Given the description of an element on the screen output the (x, y) to click on. 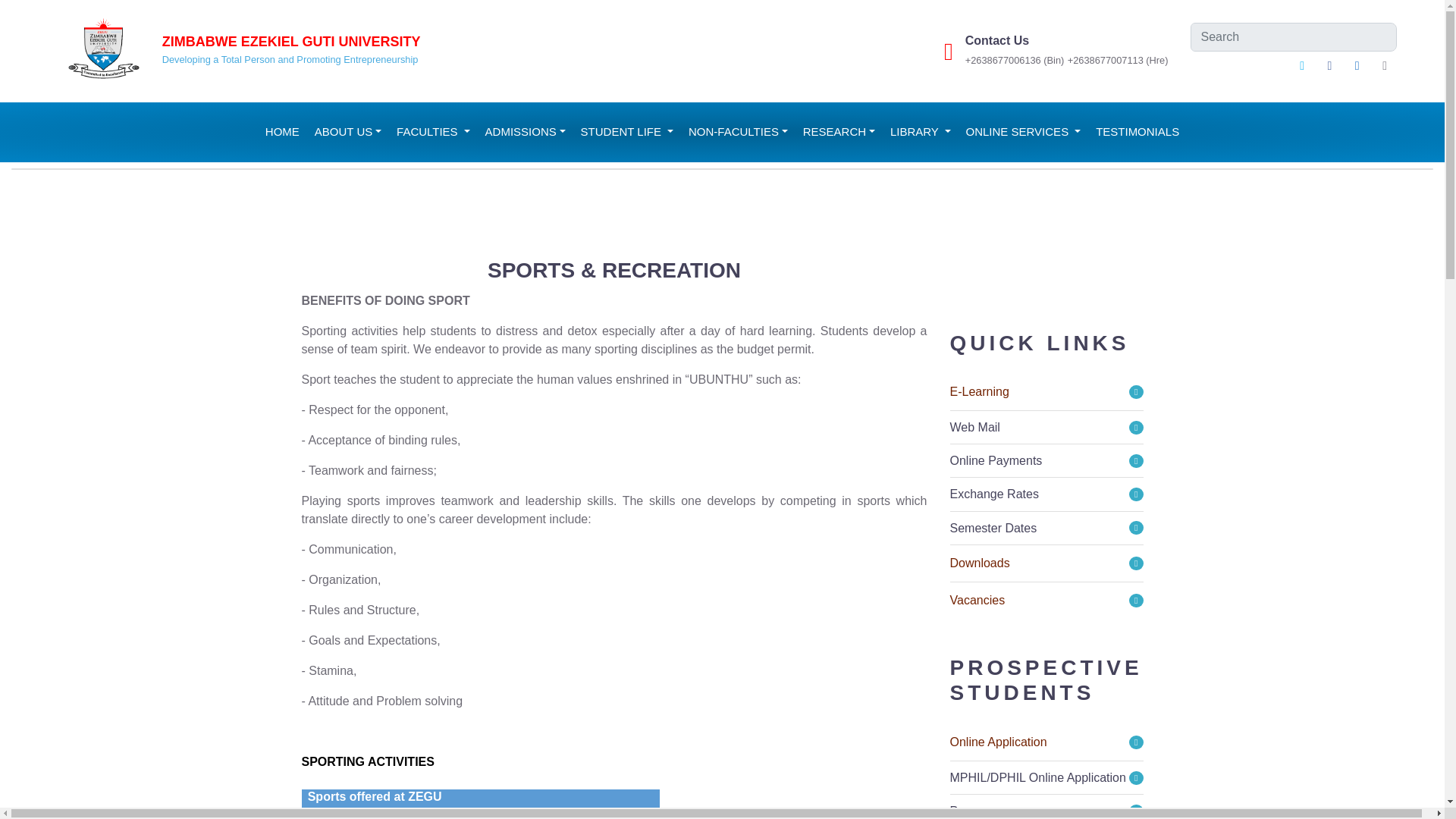
ABOUT US (347, 132)
FACULTIES (432, 132)
STUDENT LIFE (627, 132)
ADMISSIONS (525, 132)
HOME (282, 132)
